Given the description of an element on the screen output the (x, y) to click on. 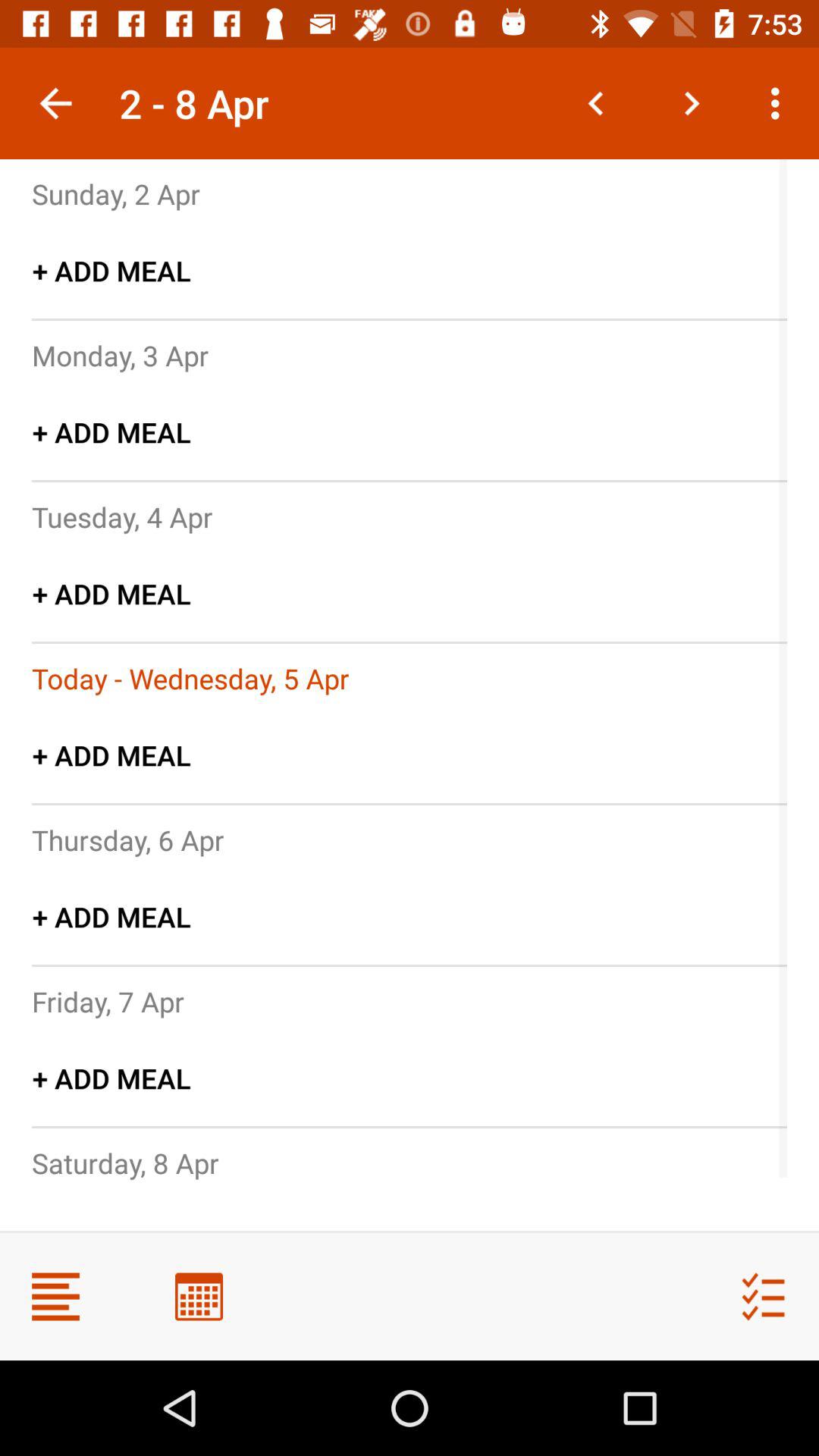
tap tuesday, 4 apr icon (121, 516)
